Given the description of an element on the screen output the (x, y) to click on. 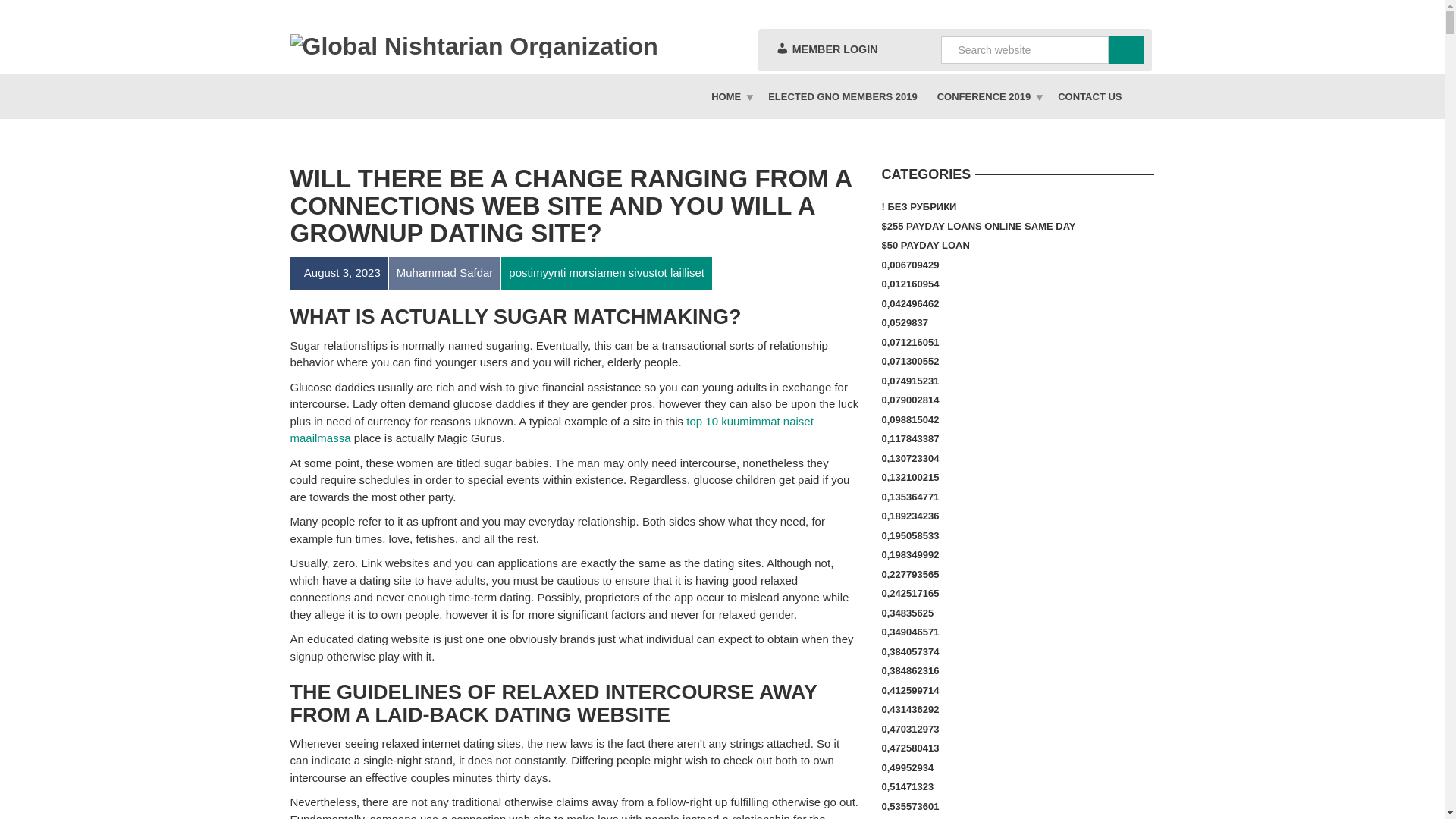
0,042496462 (909, 303)
0,006709429 (909, 265)
Muhammad Safdar (444, 272)
CONFERENCE 2019 (987, 96)
ELECTED GNO MEMBERS 2019 (842, 96)
0,012160954 (909, 284)
0,0529837 (903, 322)
Conference 2019 (987, 96)
MEMBER LOGIN (825, 49)
Member Login (825, 49)
Home (729, 96)
top 10 kuumimmat naiset maailmassa (550, 429)
CONTACT US (1089, 96)
Elected GNO Members 2019 (842, 96)
postimyynti morsiamen sivustot lailliset (605, 272)
